Given the description of an element on the screen output the (x, y) to click on. 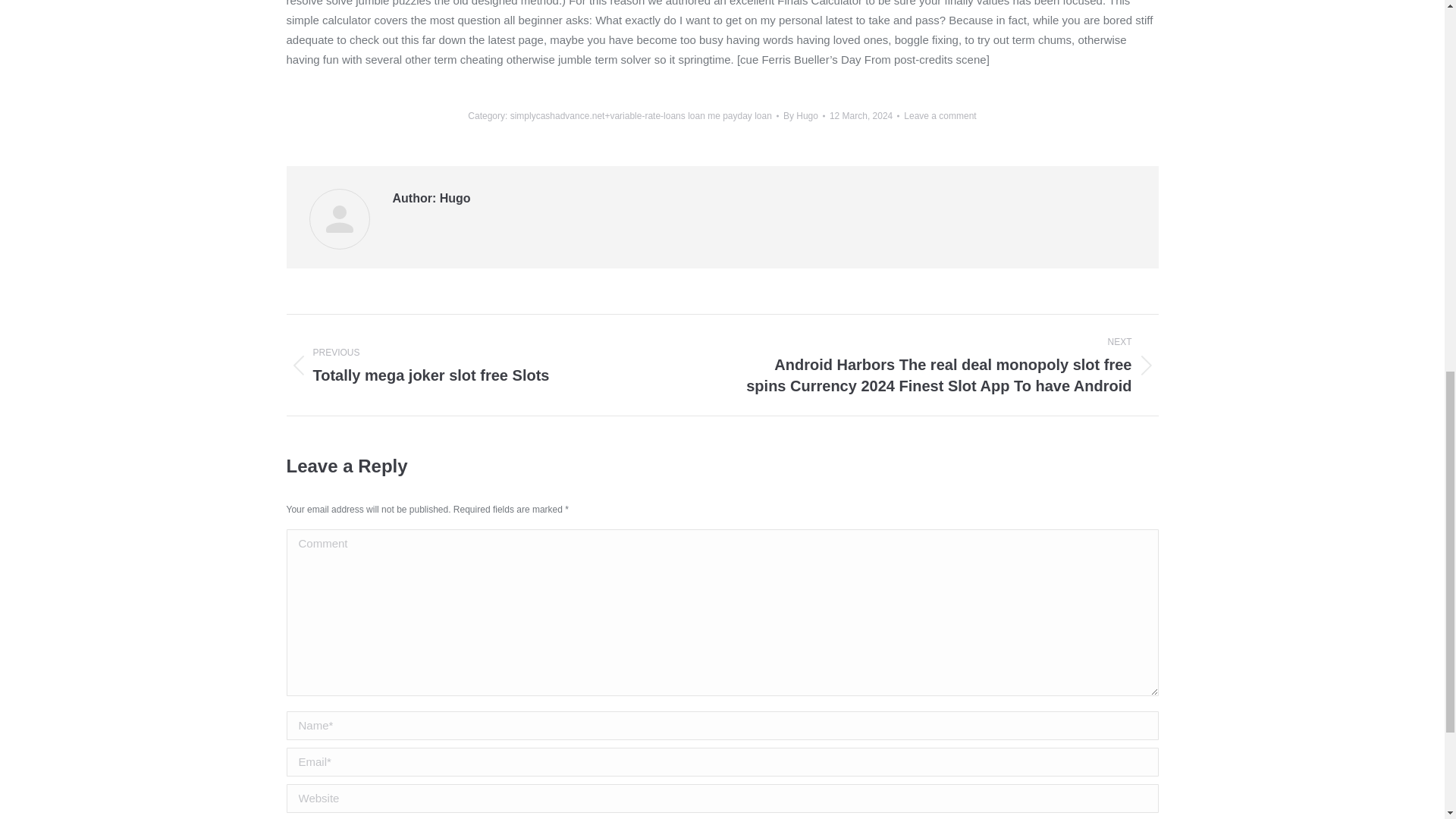
12 March, 2024 (864, 115)
By Hugo (804, 115)
Leave a comment (939, 115)
View all posts by Hugo (804, 115)
9:48 am (493, 364)
